Given the description of an element on the screen output the (x, y) to click on. 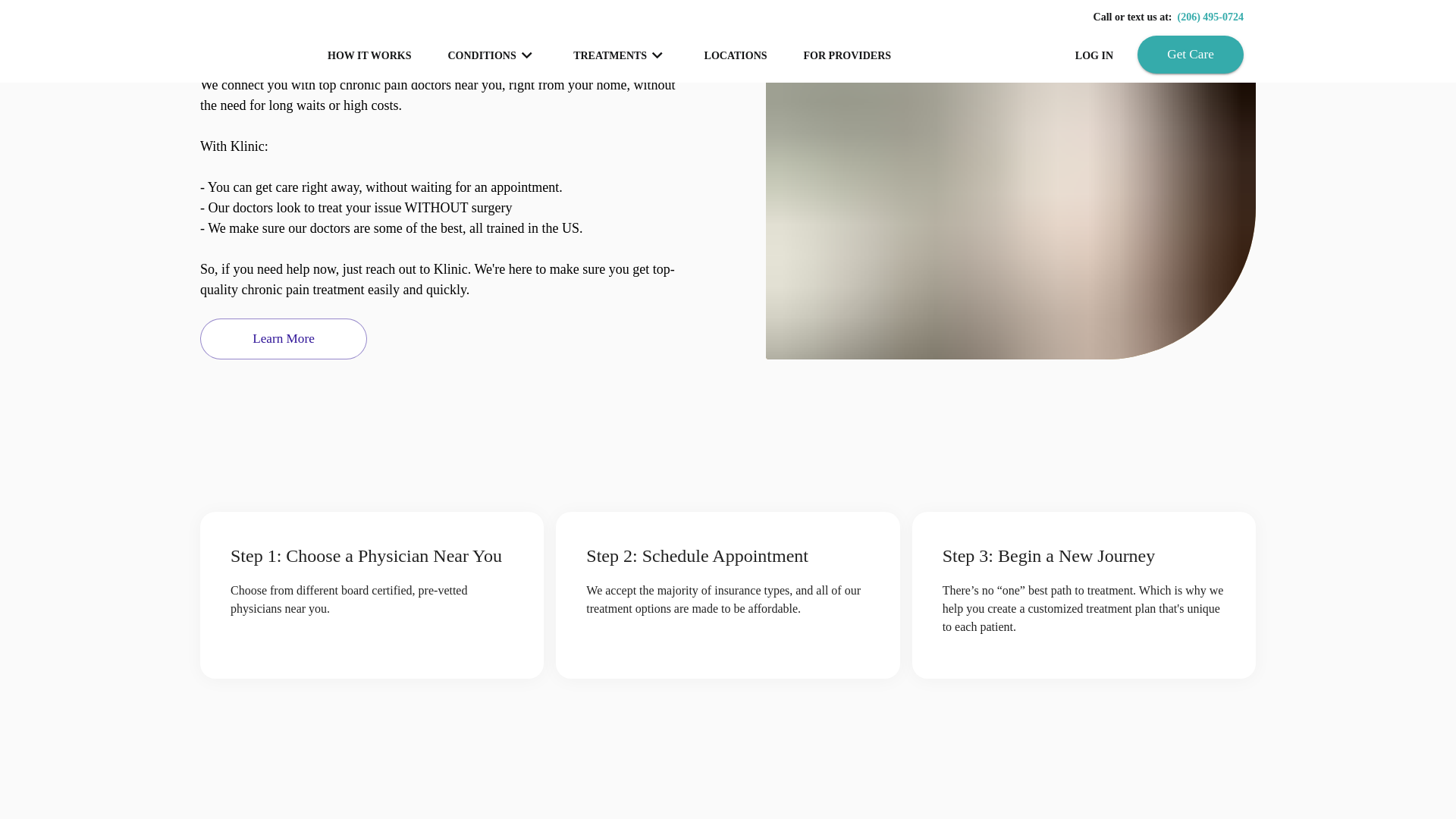
Learn More (283, 338)
